Given the description of an element on the screen output the (x, y) to click on. 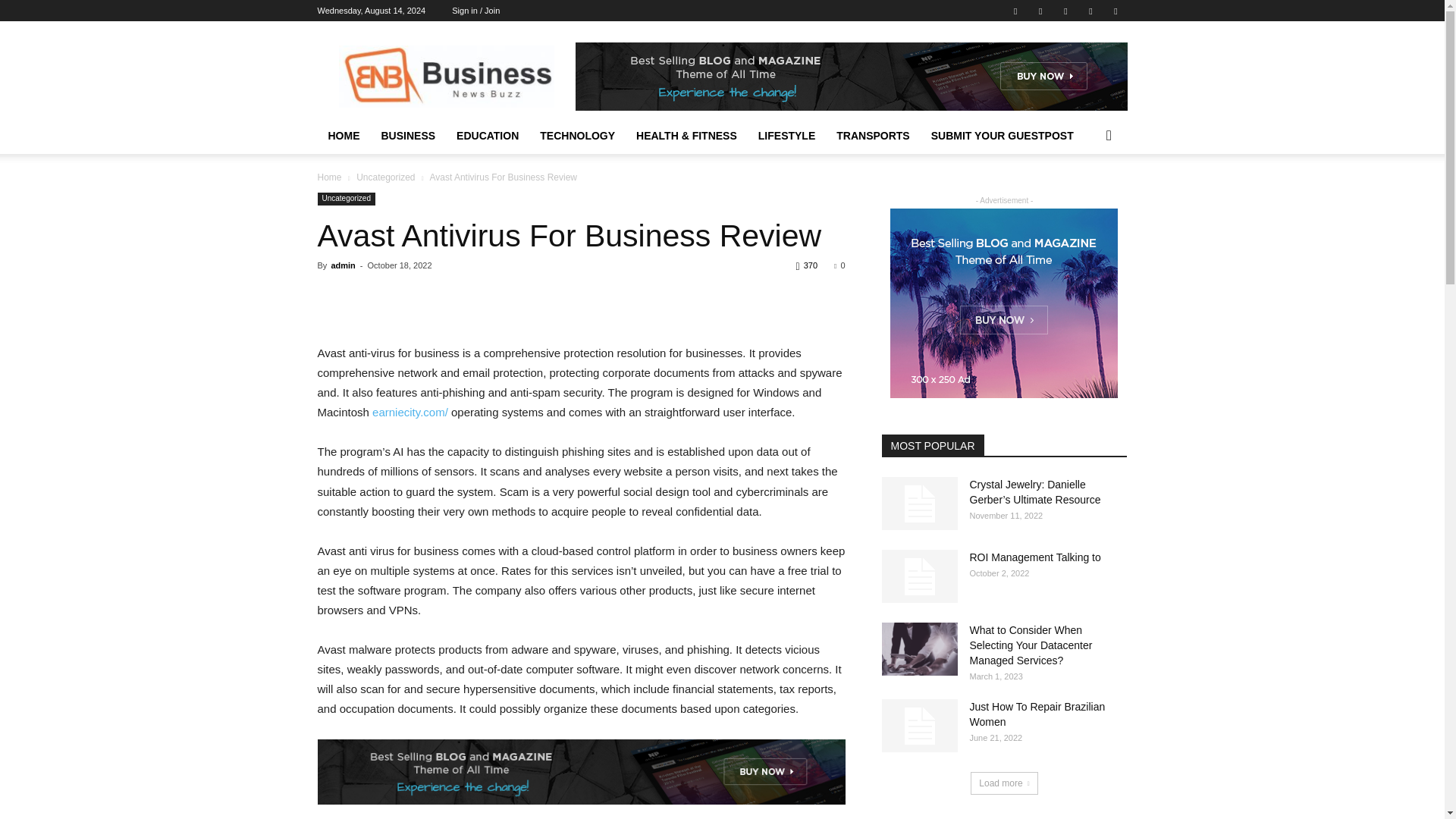
Vimeo (1065, 10)
HOME (343, 135)
Facebook (1015, 10)
TECHNOLOGY (577, 135)
View all posts in Uncategorized (385, 176)
EDUCATION (487, 135)
Youtube (1114, 10)
VKontakte (1090, 10)
BUSINESS (407, 135)
Twitter (1040, 10)
